Given the description of an element on the screen output the (x, y) to click on. 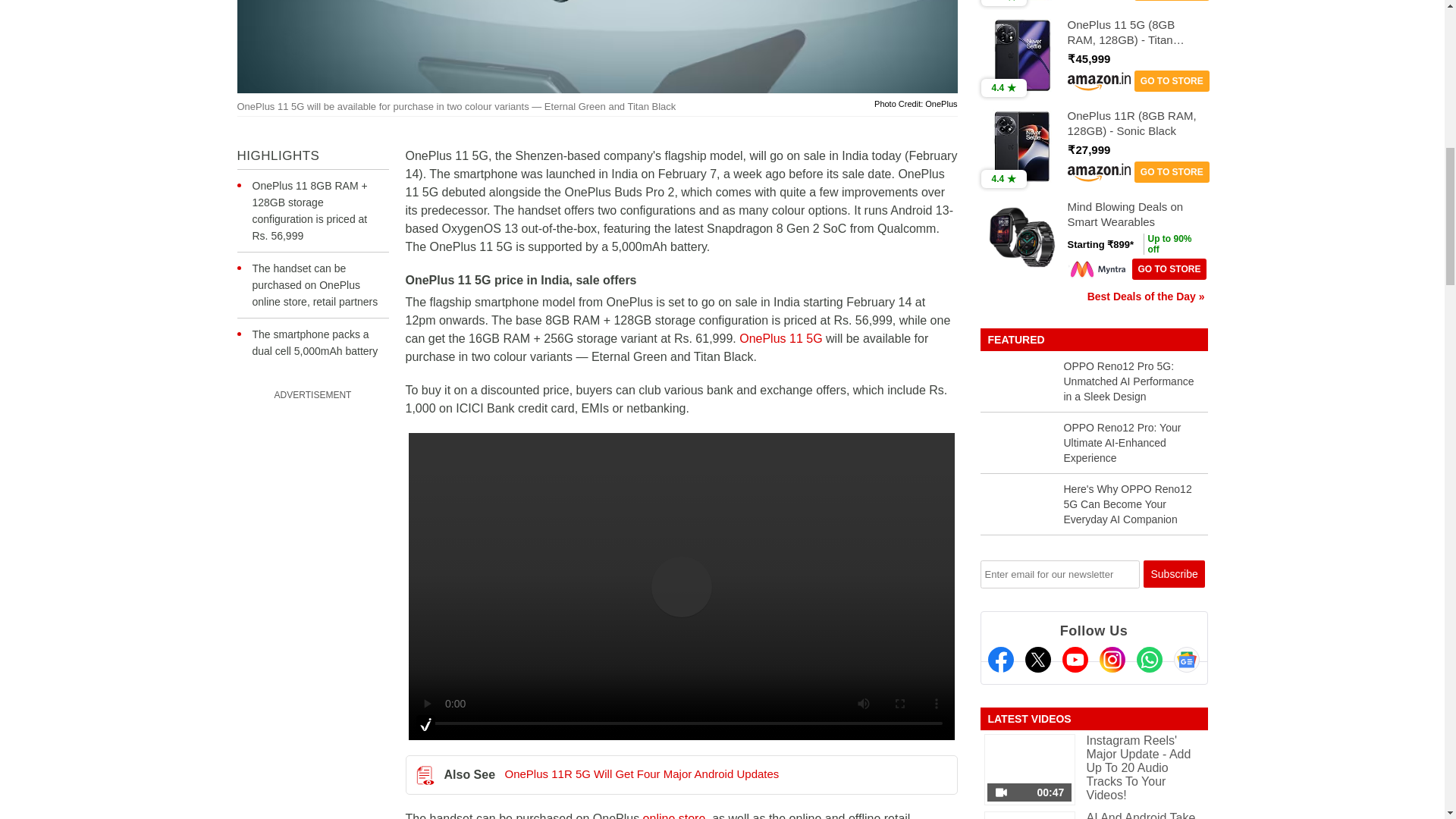
Subscribe (1173, 574)
